Given the description of an element on the screen output the (x, y) to click on. 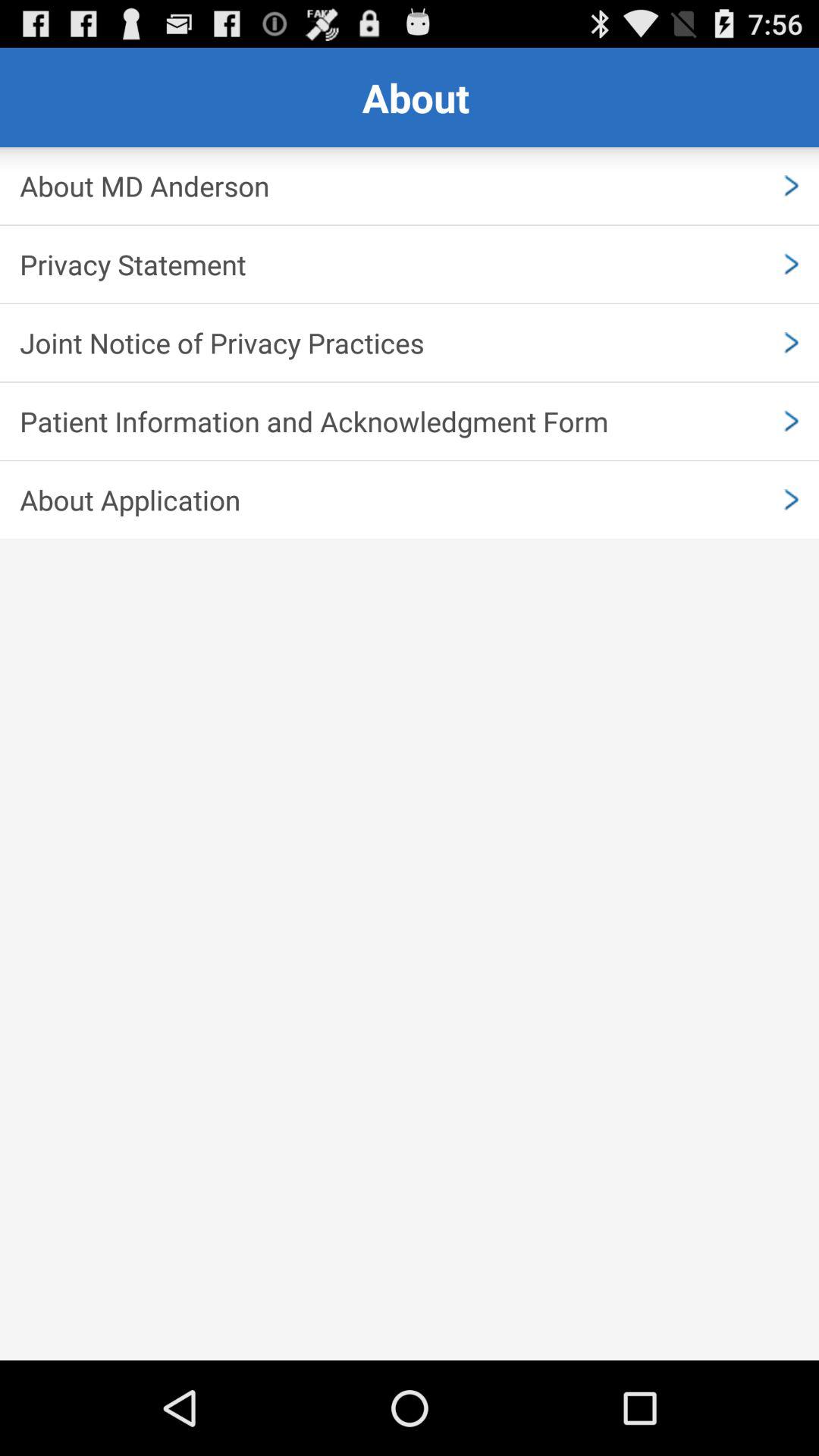
launch about application item (409, 499)
